Given the description of an element on the screen output the (x, y) to click on. 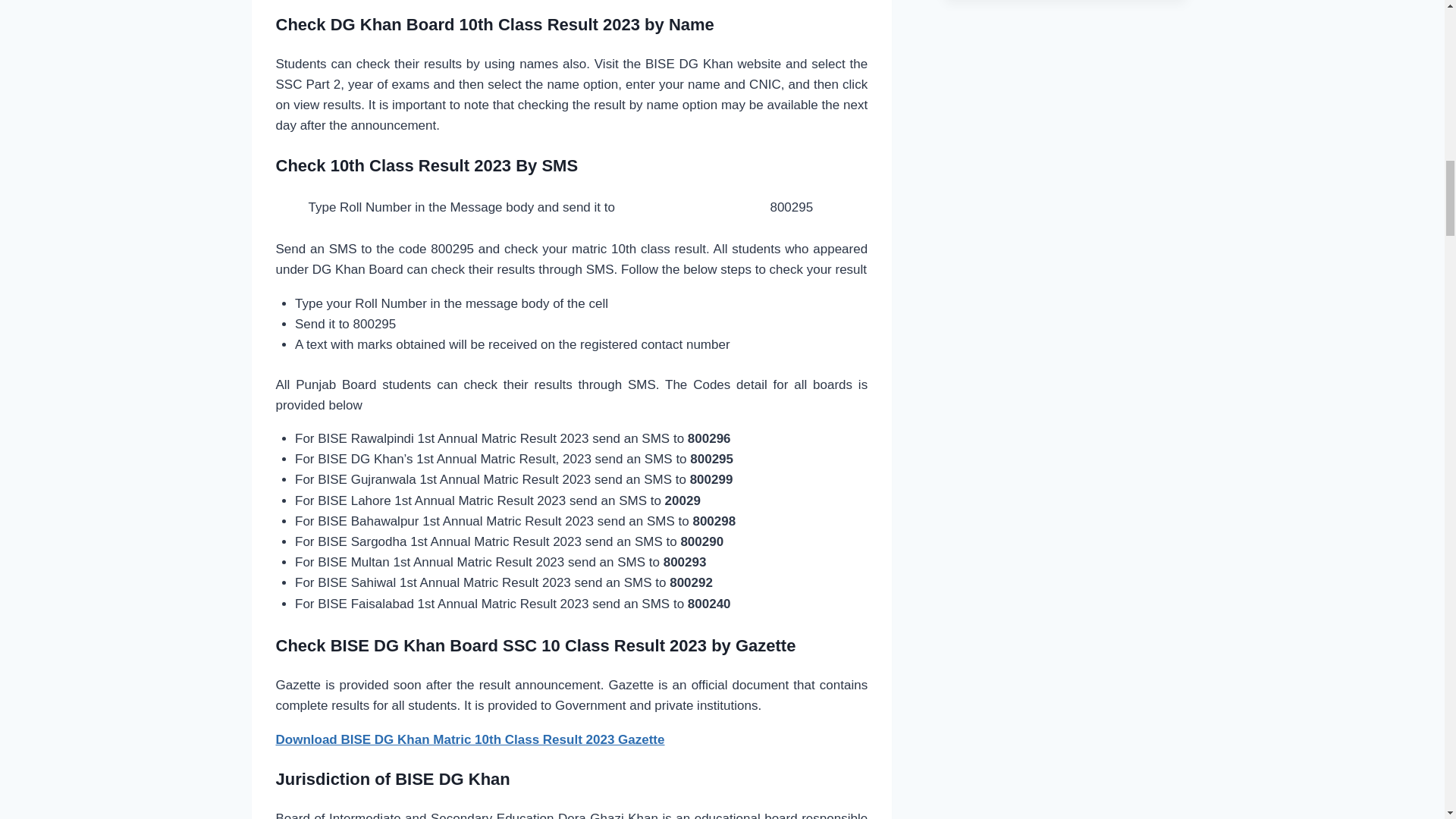
Download BISE DG Khan Matric 10th Class Result 2023 Gazette (470, 739)
